Given the description of an element on the screen output the (x, y) to click on. 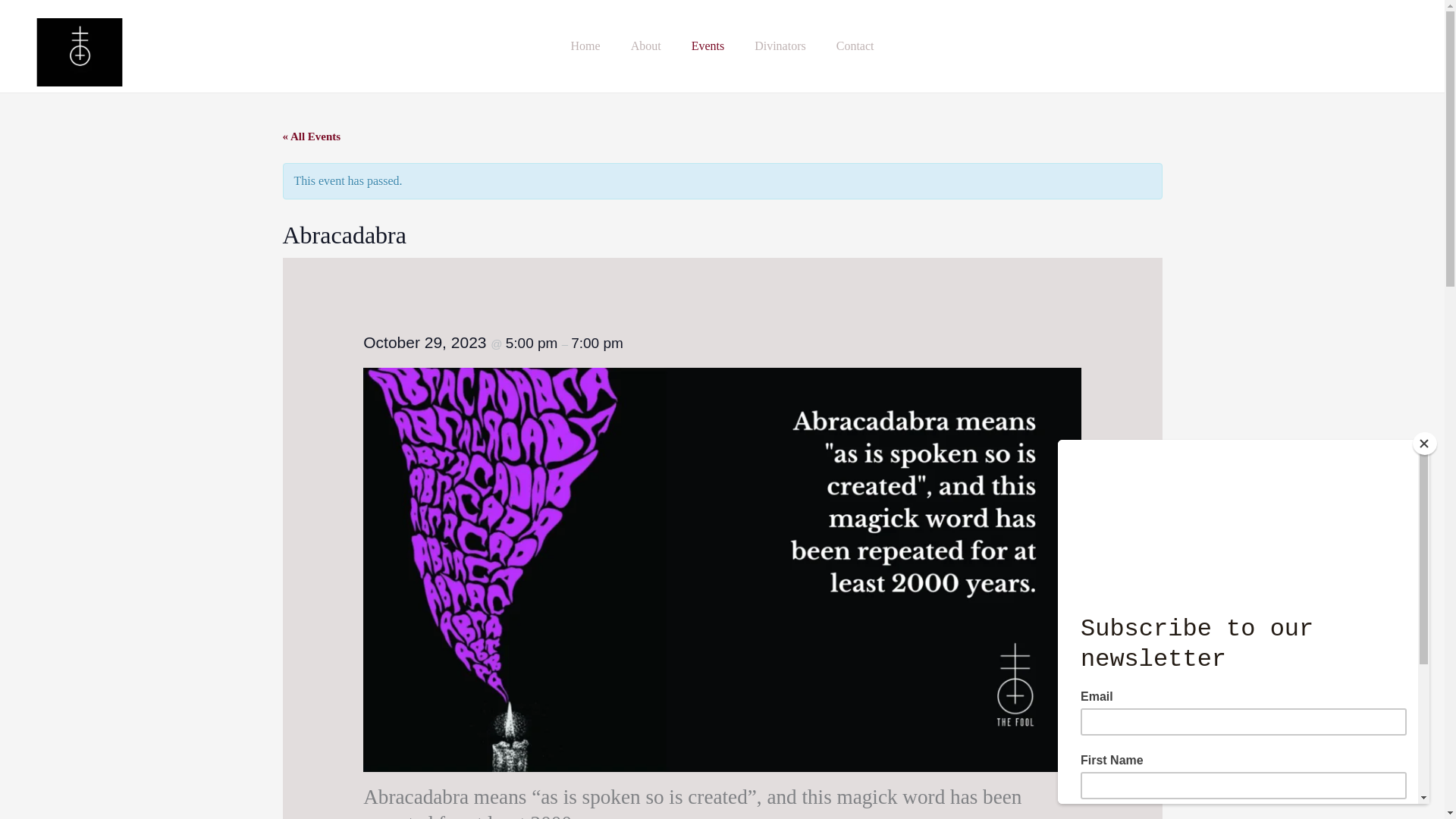
Divinators (780, 45)
Contact (855, 45)
